Given the description of an element on the screen output the (x, y) to click on. 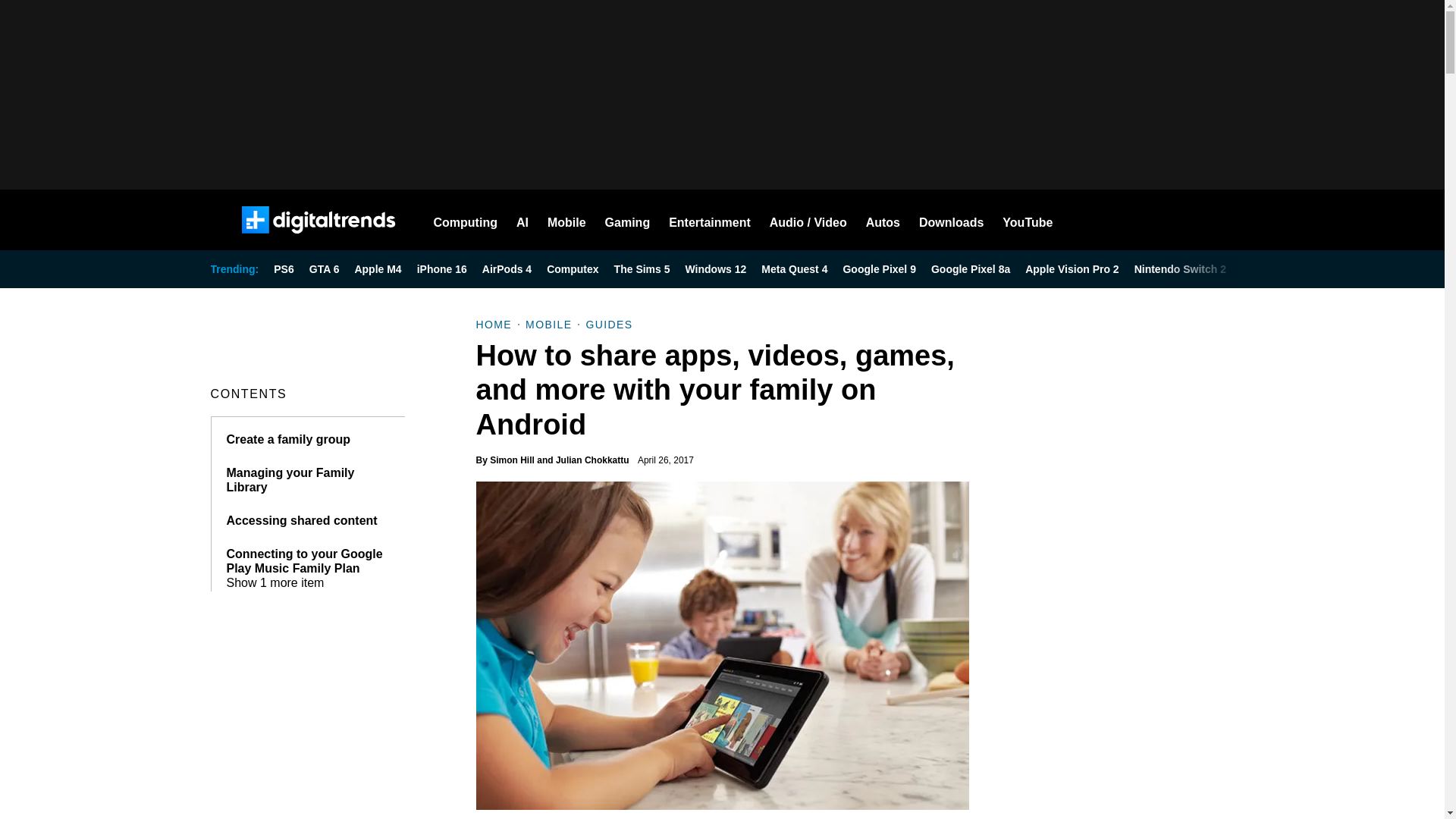
Downloads (951, 219)
Entertainment (709, 219)
Computing (465, 219)
